Given the description of an element on the screen output the (x, y) to click on. 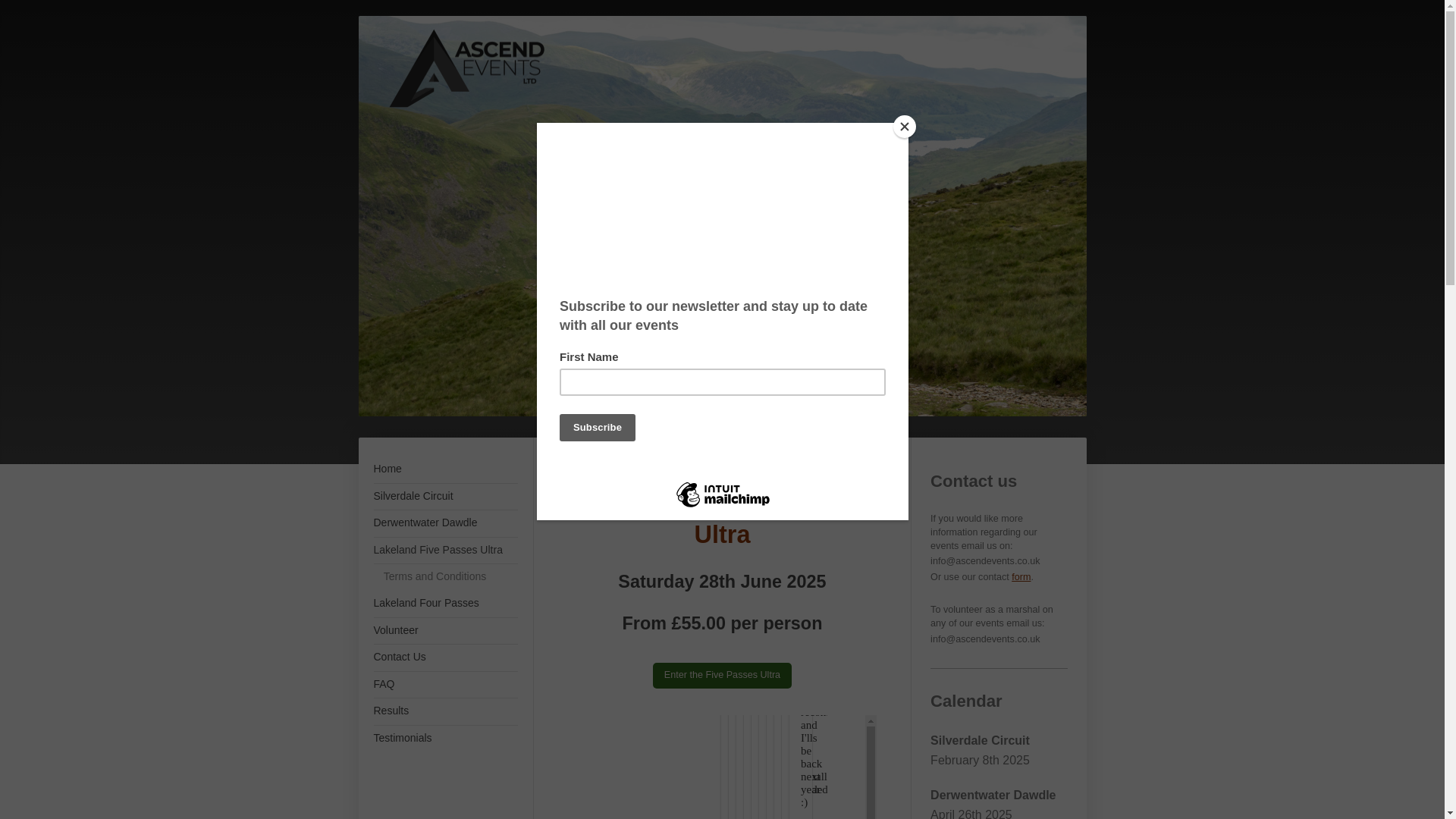
Derwentwater Dawdle (444, 523)
form (1020, 576)
Home (444, 469)
Volunteer (444, 631)
Contact Us (444, 657)
Lakeland Four Passes (444, 603)
Enter the Five Passes Ultra (722, 675)
Testimonials (444, 738)
Results (444, 711)
Terms and Conditions (451, 576)
